Given the description of an element on the screen output the (x, y) to click on. 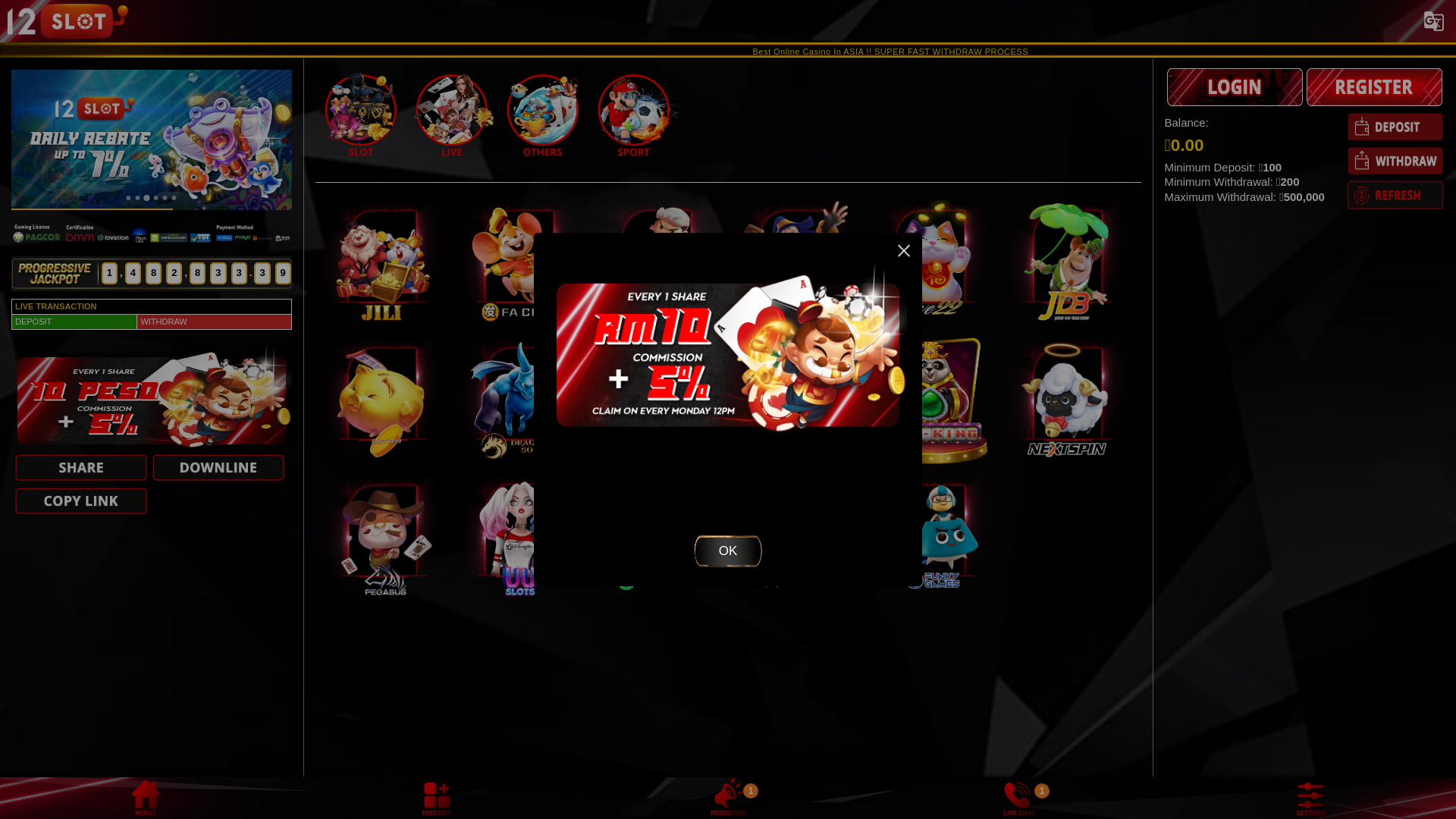
REFRESH Element type: text (1395, 194)
WITHDRAW Element type: text (1395, 160)
Invite Friend Element type: text (80, 400)
Copy Referrer Link Element type: text (80, 434)
LOGIN Element type: text (1234, 86)
OK Element type: text (728, 424)
DEPOSIT Element type: text (1395, 126)
Downline Element type: text (218, 400)
REGISTER Element type: text (1374, 86)
